Given the description of an element on the screen output the (x, y) to click on. 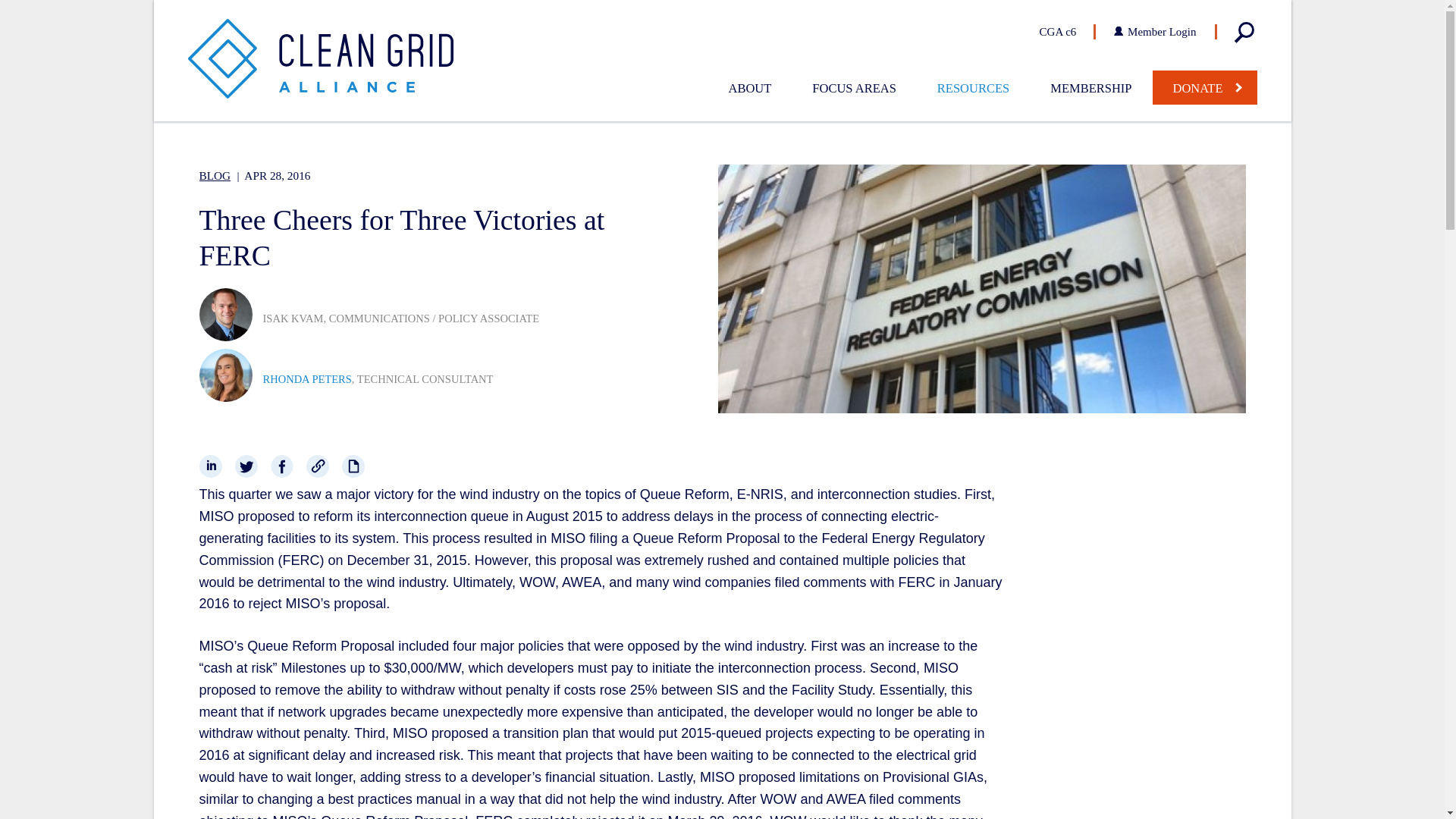
MEMBERSHIP (1090, 87)
FOCUS AREAS (854, 87)
ABOUT (749, 87)
CGA c6 (1067, 31)
DONATE (1205, 87)
RESOURCES (973, 87)
Member Login (1153, 32)
